Given the description of an element on the screen output the (x, y) to click on. 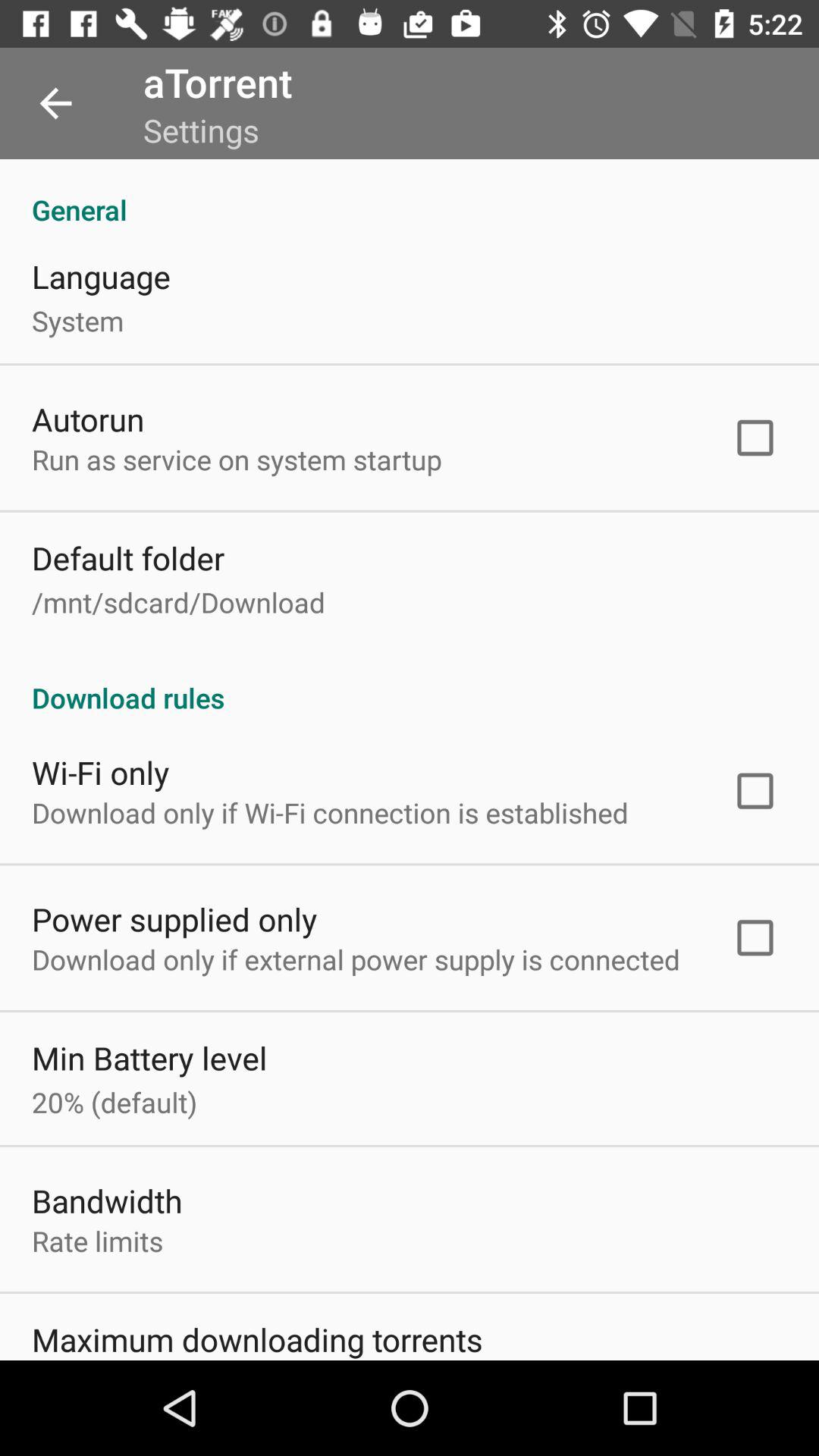
tap bandwidth (106, 1200)
